Given the description of an element on the screen output the (x, y) to click on. 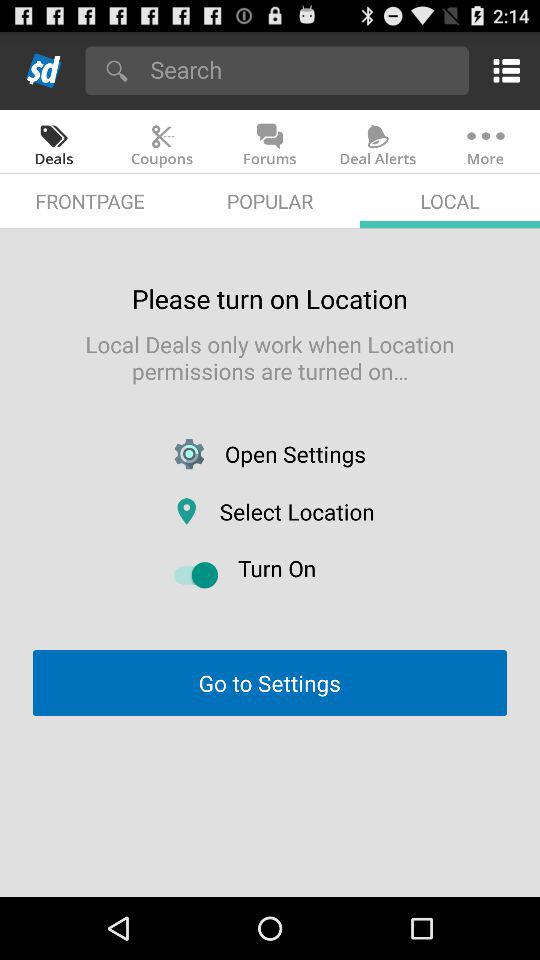
choose app to the right of the frontpage icon (270, 200)
